Given the description of an element on the screen output the (x, y) to click on. 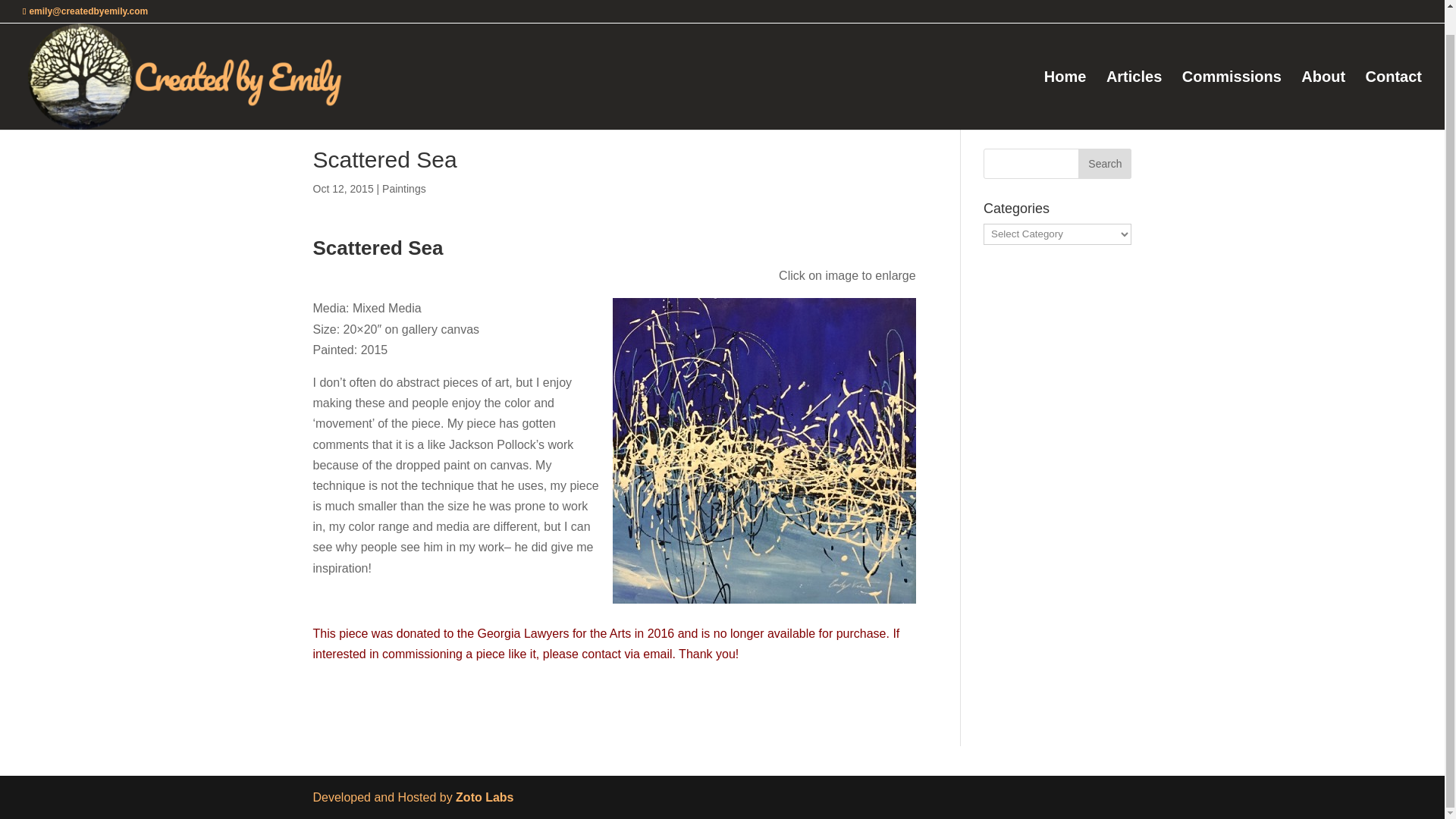
Commissions (1231, 74)
Paintings (403, 188)
Articles (1133, 74)
Search (1104, 163)
Search (1104, 163)
Scatteredseas20x20 (763, 450)
Zoto Labs (484, 797)
Contact (1393, 74)
